Given the description of an element on the screen output the (x, y) to click on. 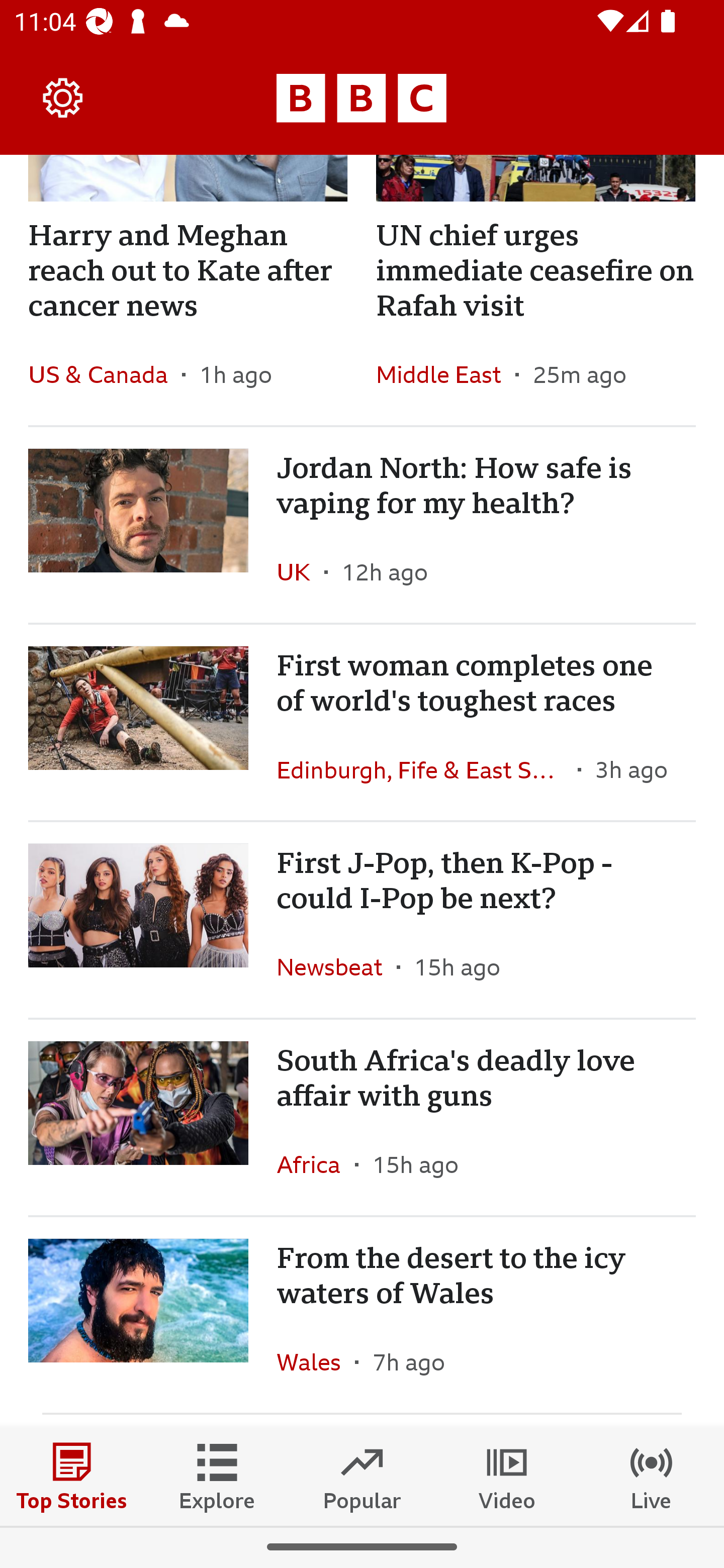
Settings (63, 97)
US & Canada In the section US & Canada (104, 373)
Middle East In the section Middle East (445, 373)
UK In the section UK (300, 571)
Newsbeat In the section Newsbeat (336, 966)
Africa In the section Africa (315, 1164)
Wales In the section Wales (315, 1361)
Explore (216, 1475)
Popular (361, 1475)
Video (506, 1475)
Live (651, 1475)
